Given the description of an element on the screen output the (x, y) to click on. 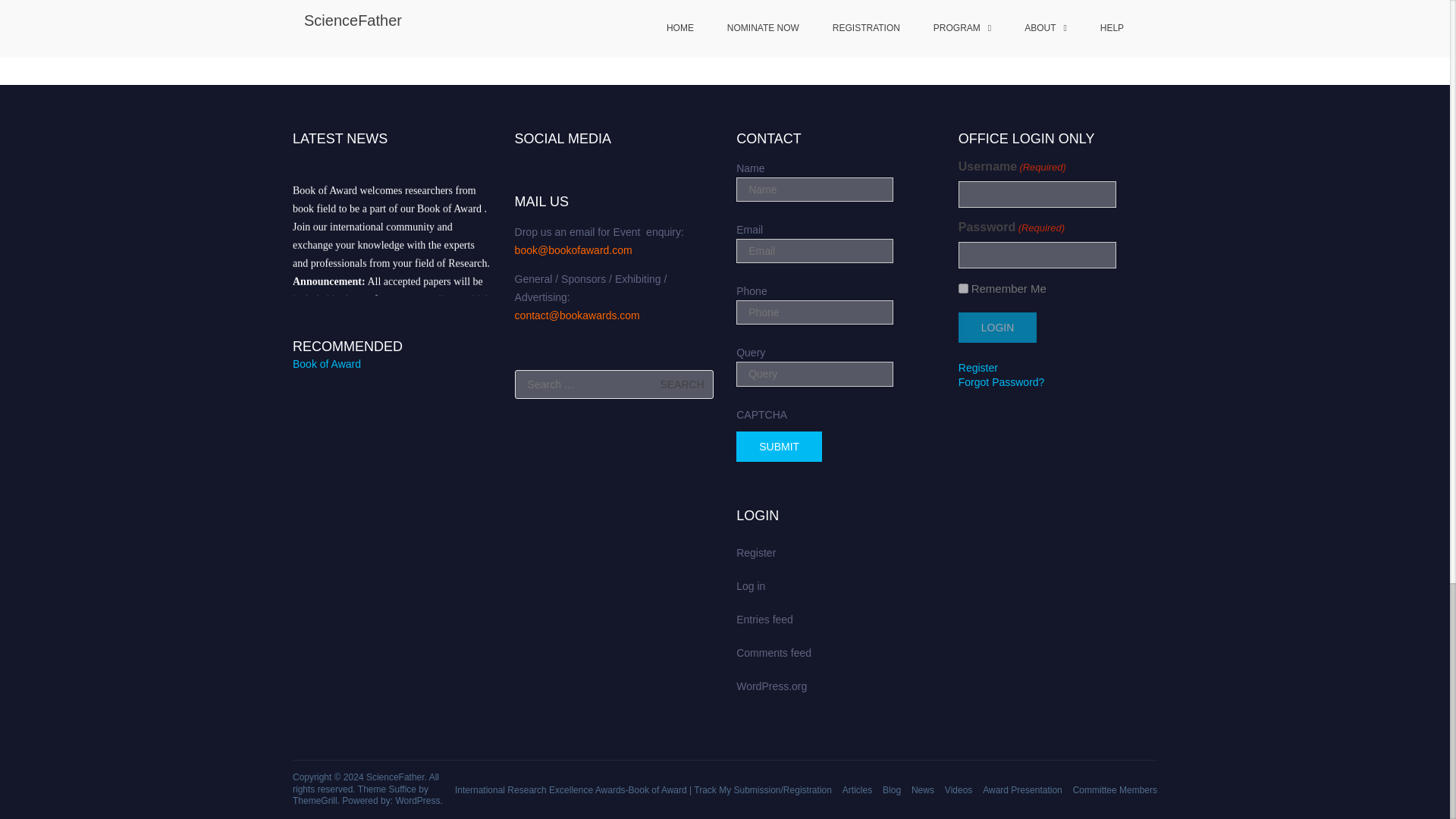
Search (681, 384)
Suffice (401, 788)
Search (681, 384)
Submit (779, 446)
ScienceFather (395, 777)
Register (977, 367)
Login (997, 327)
WordPress (416, 800)
1 (963, 288)
Forgot Password? (1001, 381)
